Given the description of an element on the screen output the (x, y) to click on. 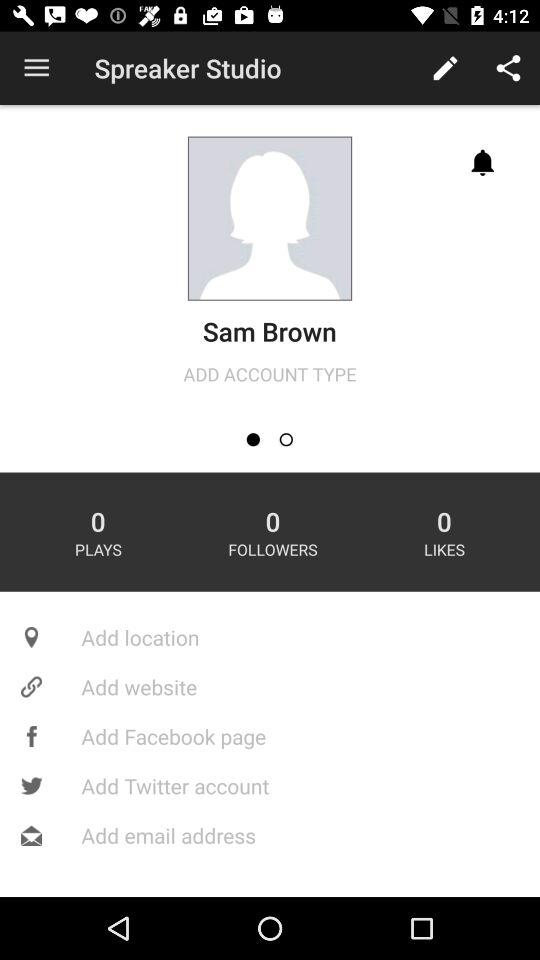
click icon at the top left corner (36, 68)
